Given the description of an element on the screen output the (x, y) to click on. 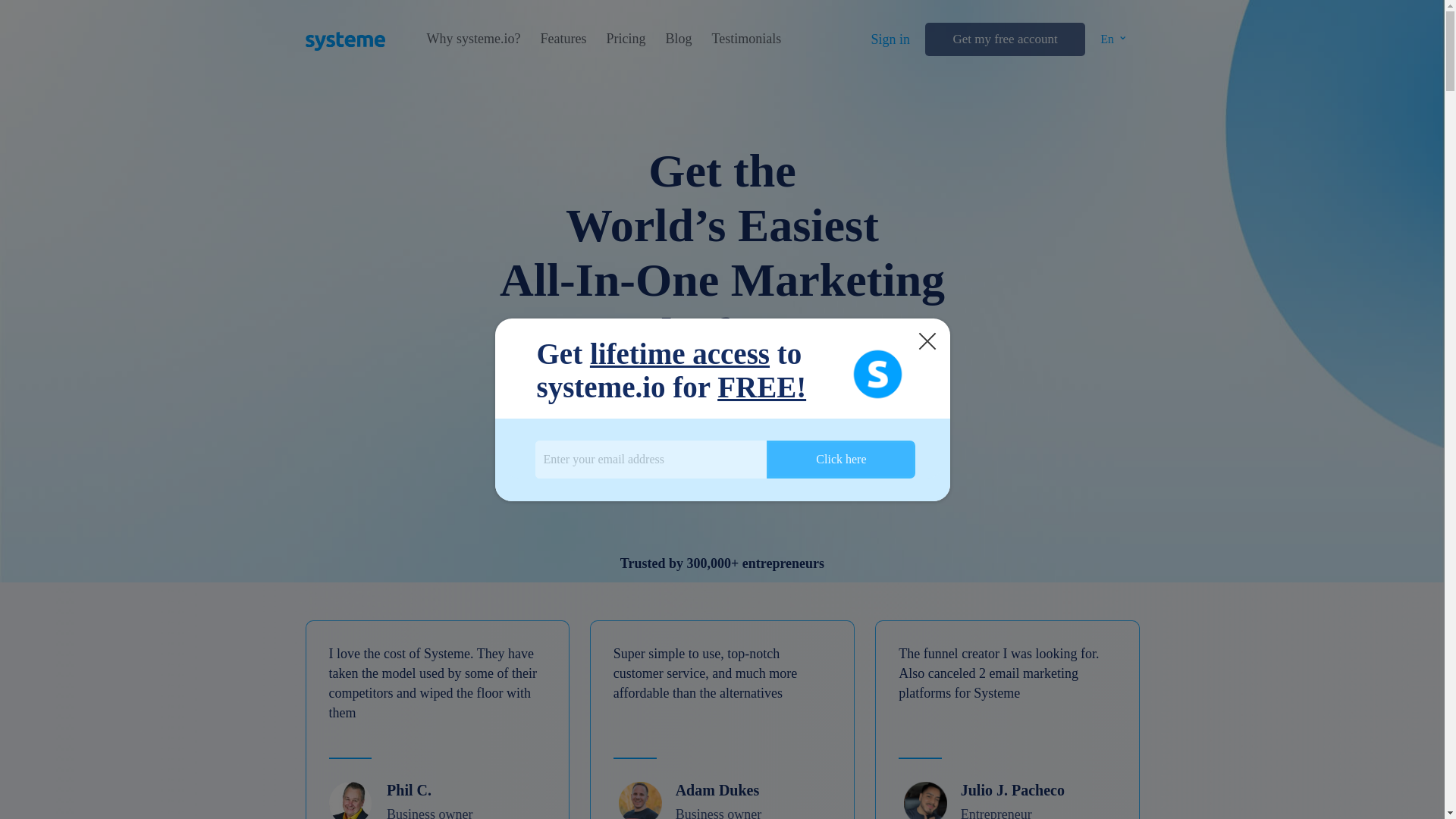
Testimonials (745, 38)
Sign in (890, 39)
Why systeme.io? (472, 38)
Blog (678, 38)
Get my free account (1004, 39)
Features (563, 38)
Pricing (625, 38)
